Given the description of an element on the screen output the (x, y) to click on. 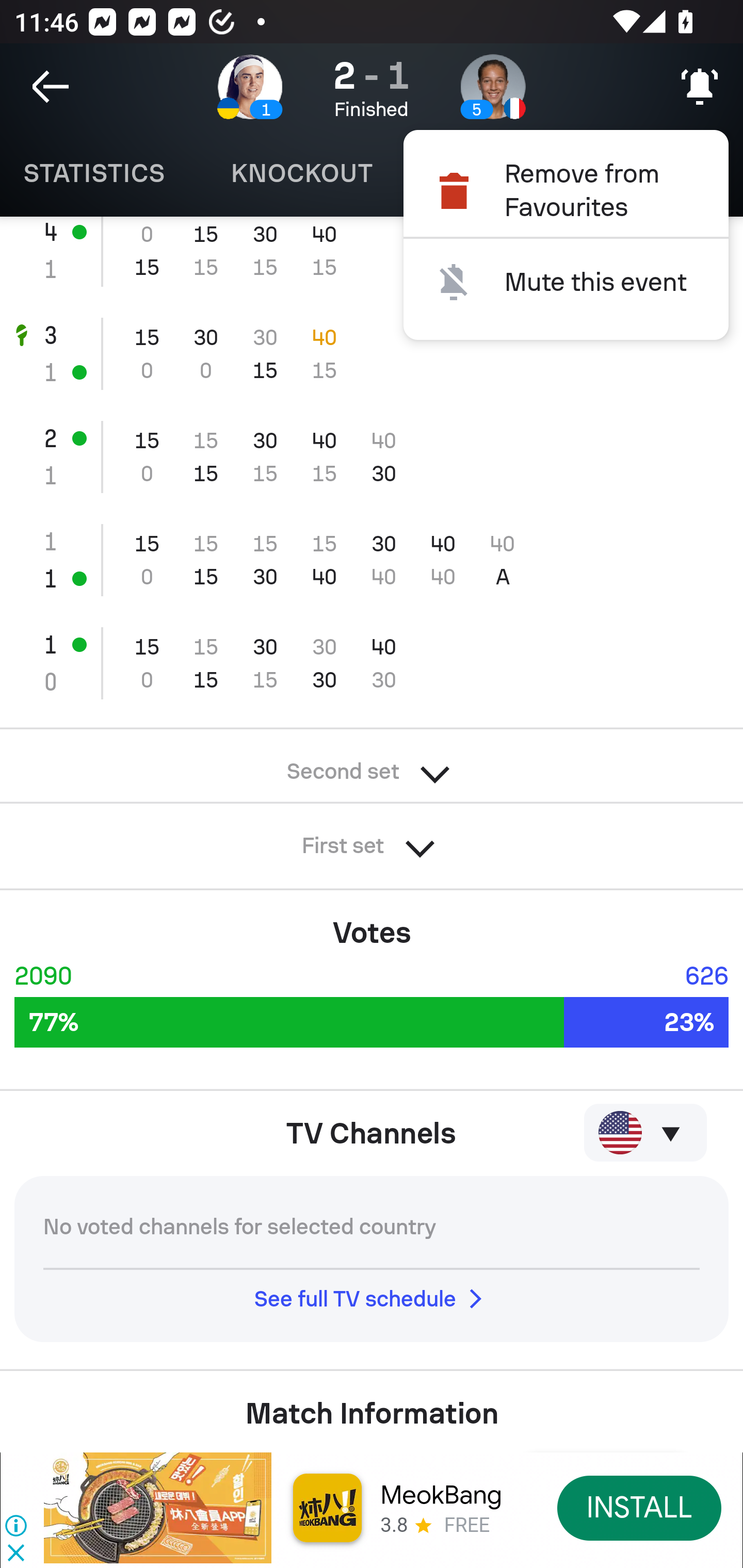
Remove from Favourites (565, 190)
Mute this event (565, 282)
